Given the description of an element on the screen output the (x, y) to click on. 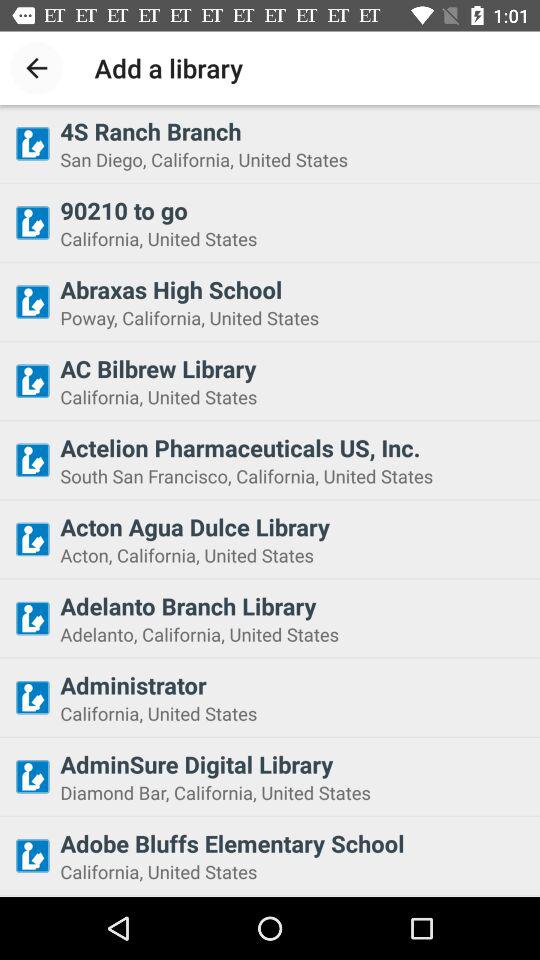
select the item below diamond bar california (294, 843)
